Given the description of an element on the screen output the (x, y) to click on. 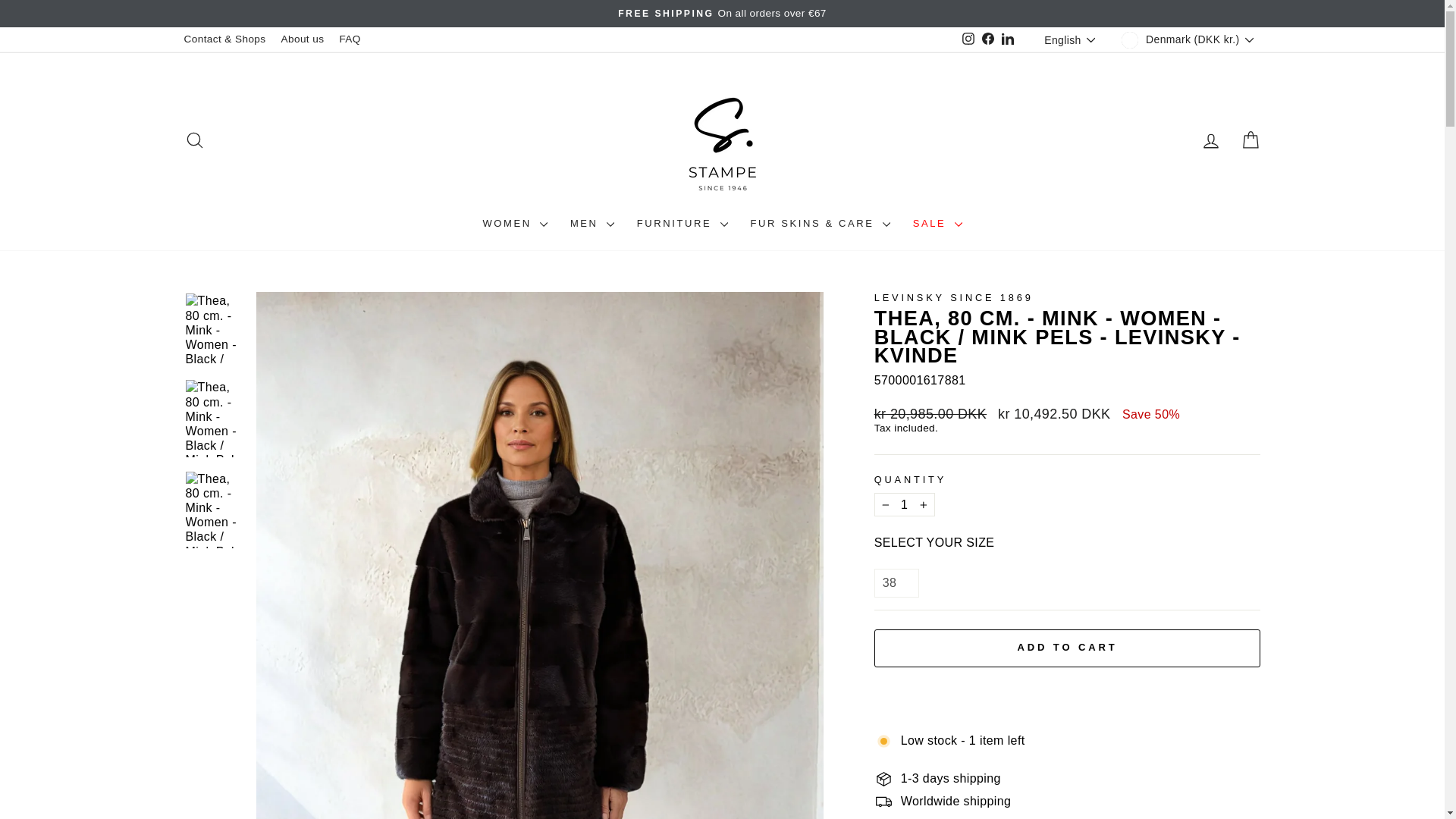
instagram (968, 38)
Stampe Denmark on Instagram (968, 39)
Stampe Denmark on Facebook (987, 39)
1 (904, 504)
ICON-SEARCH (194, 139)
ACCOUNT (1210, 140)
Stampe Denmark on LinkedIn (1007, 39)
Levinsky since 1869 (954, 297)
